Given the description of an element on the screen output the (x, y) to click on. 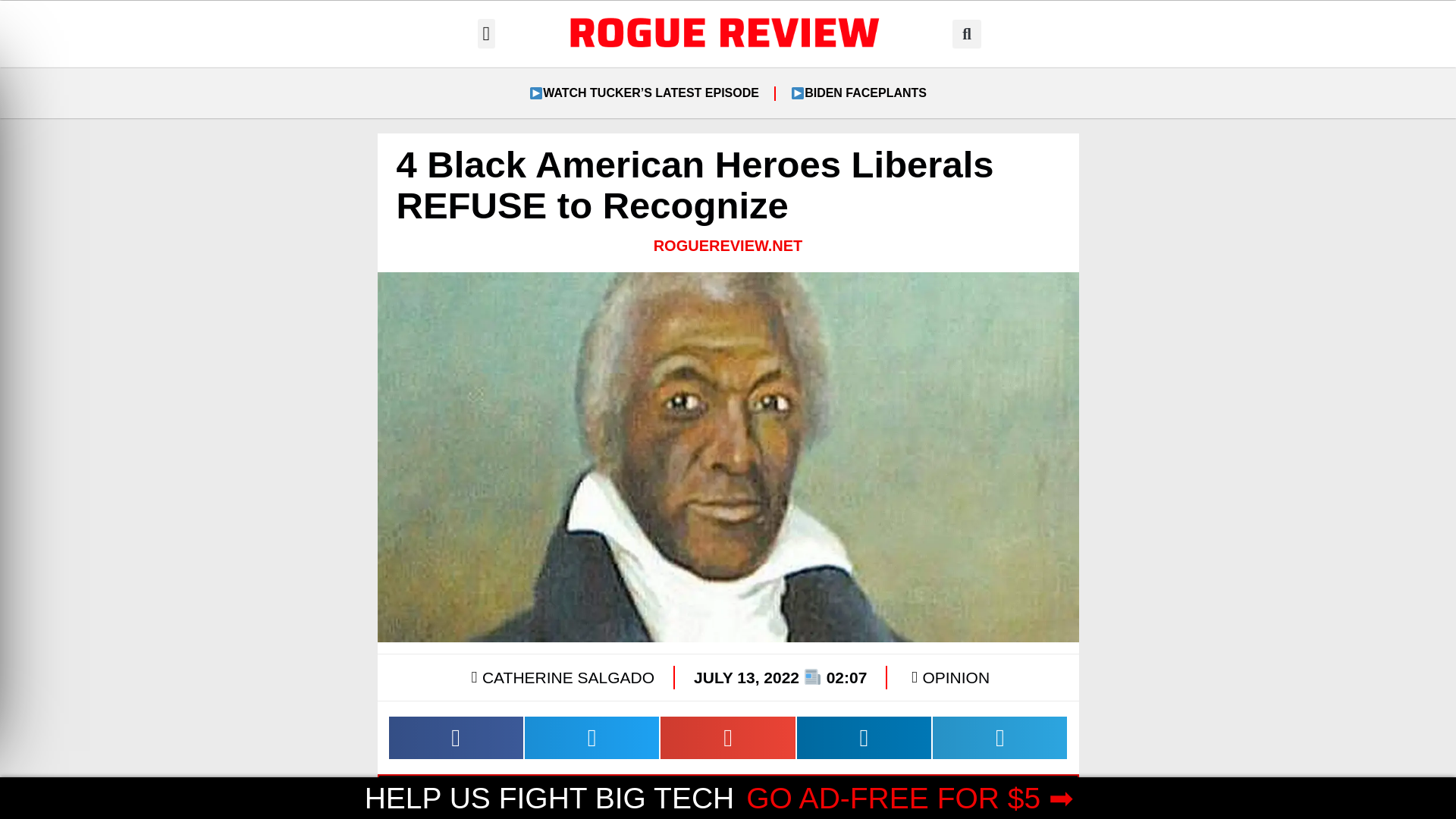
BIDEN FACEPLANTS (859, 93)
CATHERINE SALGADO (559, 677)
OPINION (955, 677)
